Given the description of an element on the screen output the (x, y) to click on. 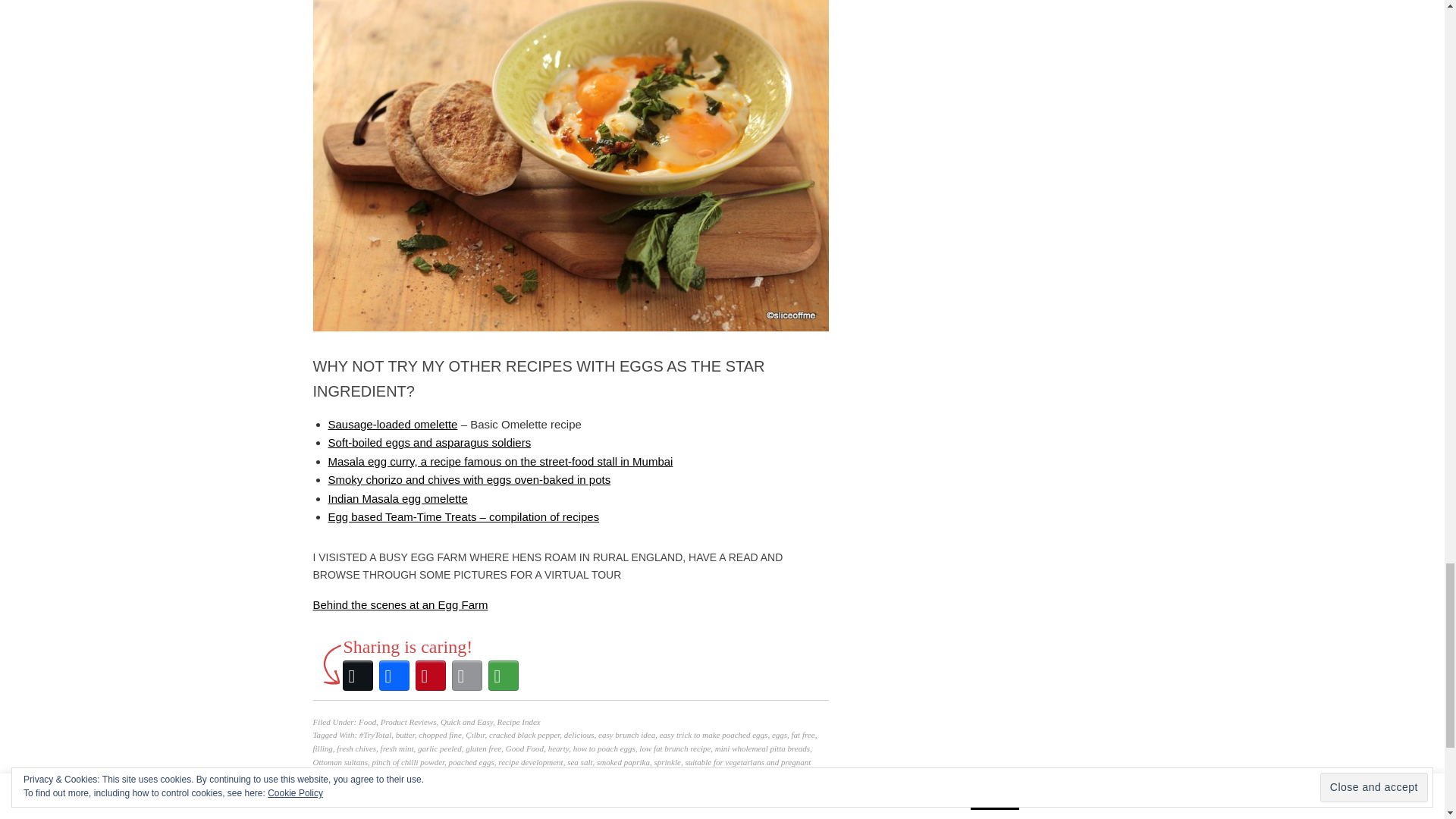
Pinterest (430, 675)
Facebook (393, 675)
